Given the description of an element on the screen output the (x, y) to click on. 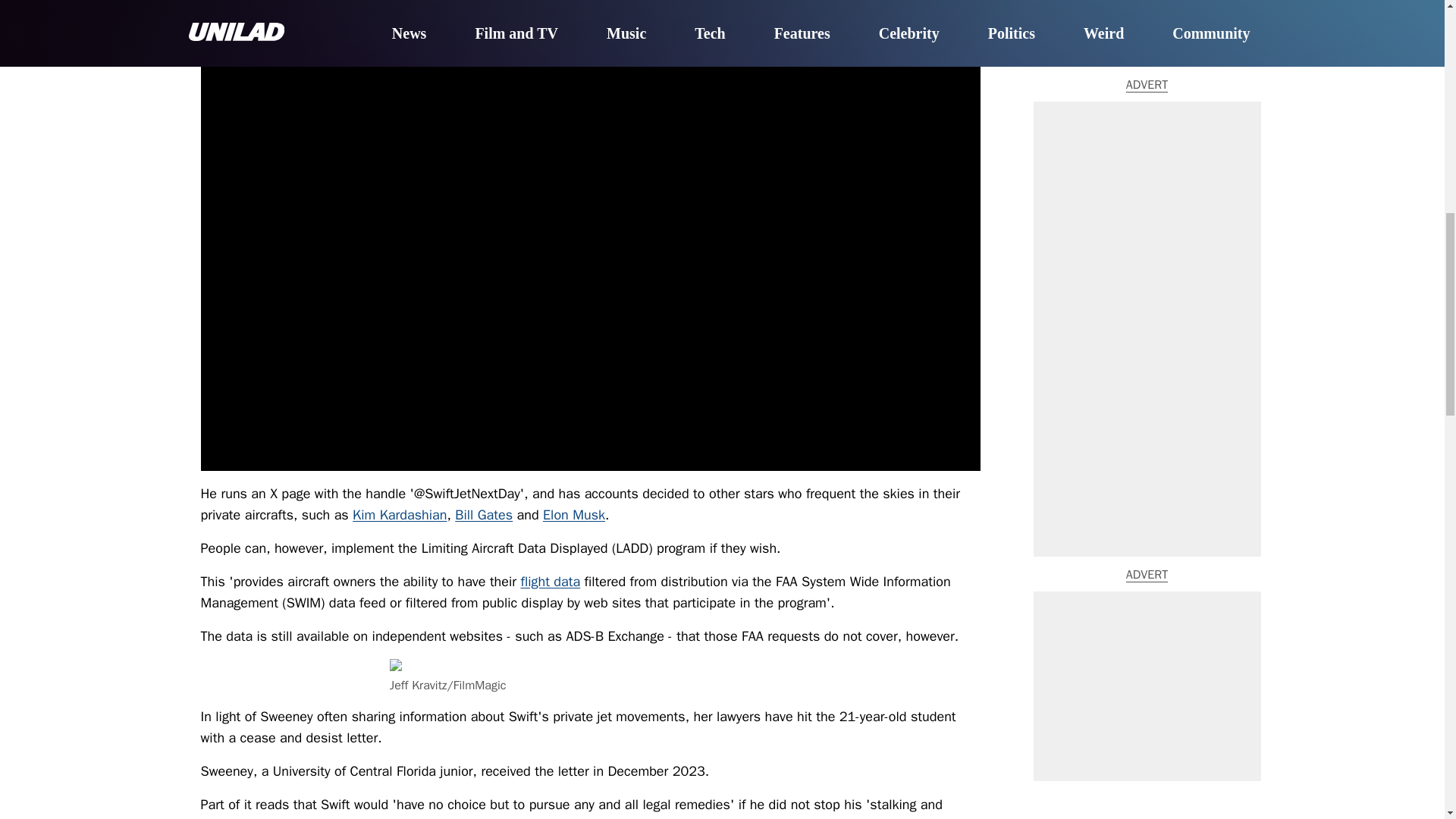
flight data (549, 581)
Elon Musk (574, 514)
Kim Kardashian (399, 514)
Bill Gates (483, 514)
